Given the description of an element on the screen output the (x, y) to click on. 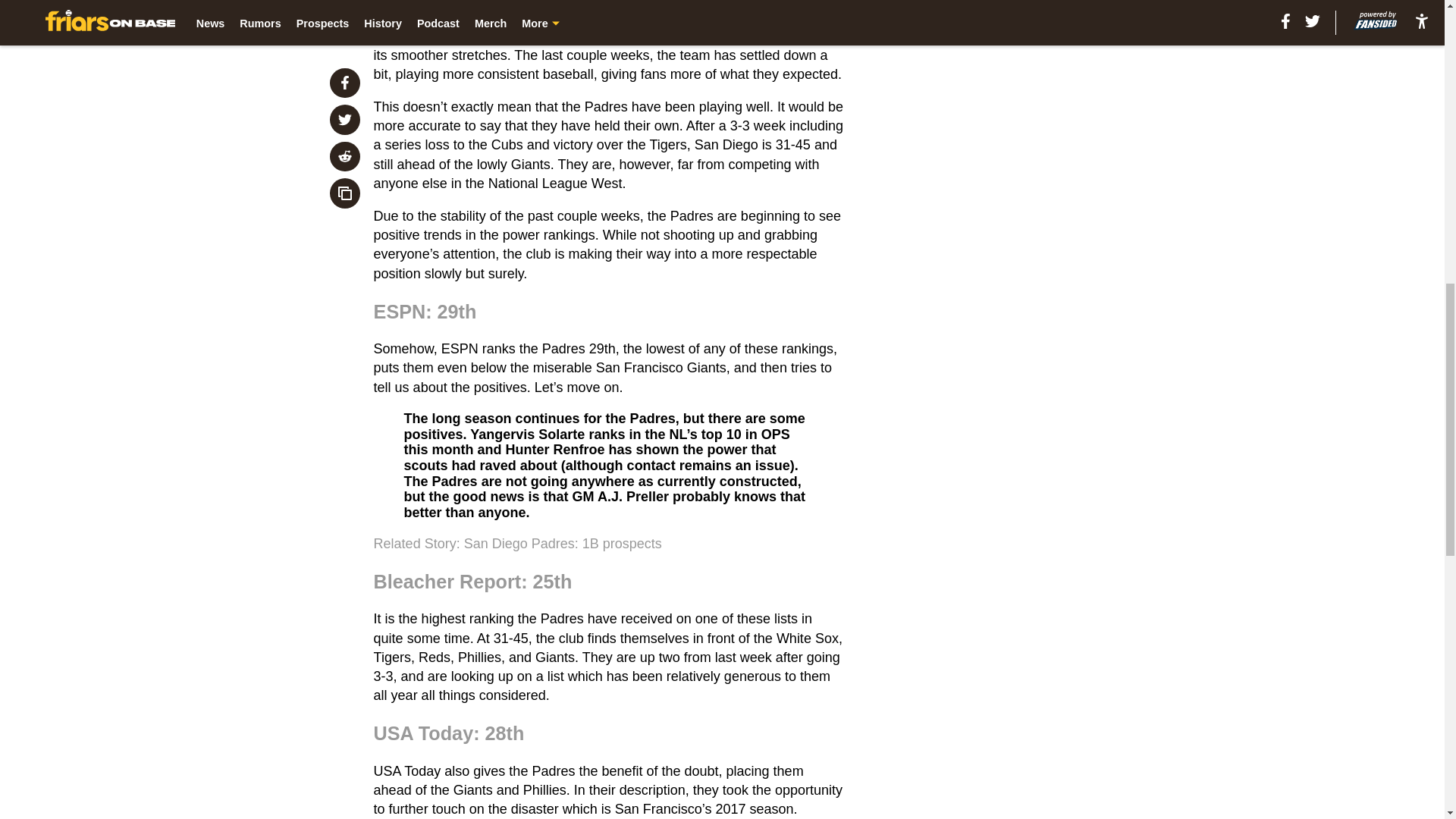
Related Story: San Diego Padres: 1B prospects (518, 543)
Bleacher Report: 25th (473, 581)
ESPN: 29th (425, 311)
USA Today: 28th (449, 732)
